Given the description of an element on the screen output the (x, y) to click on. 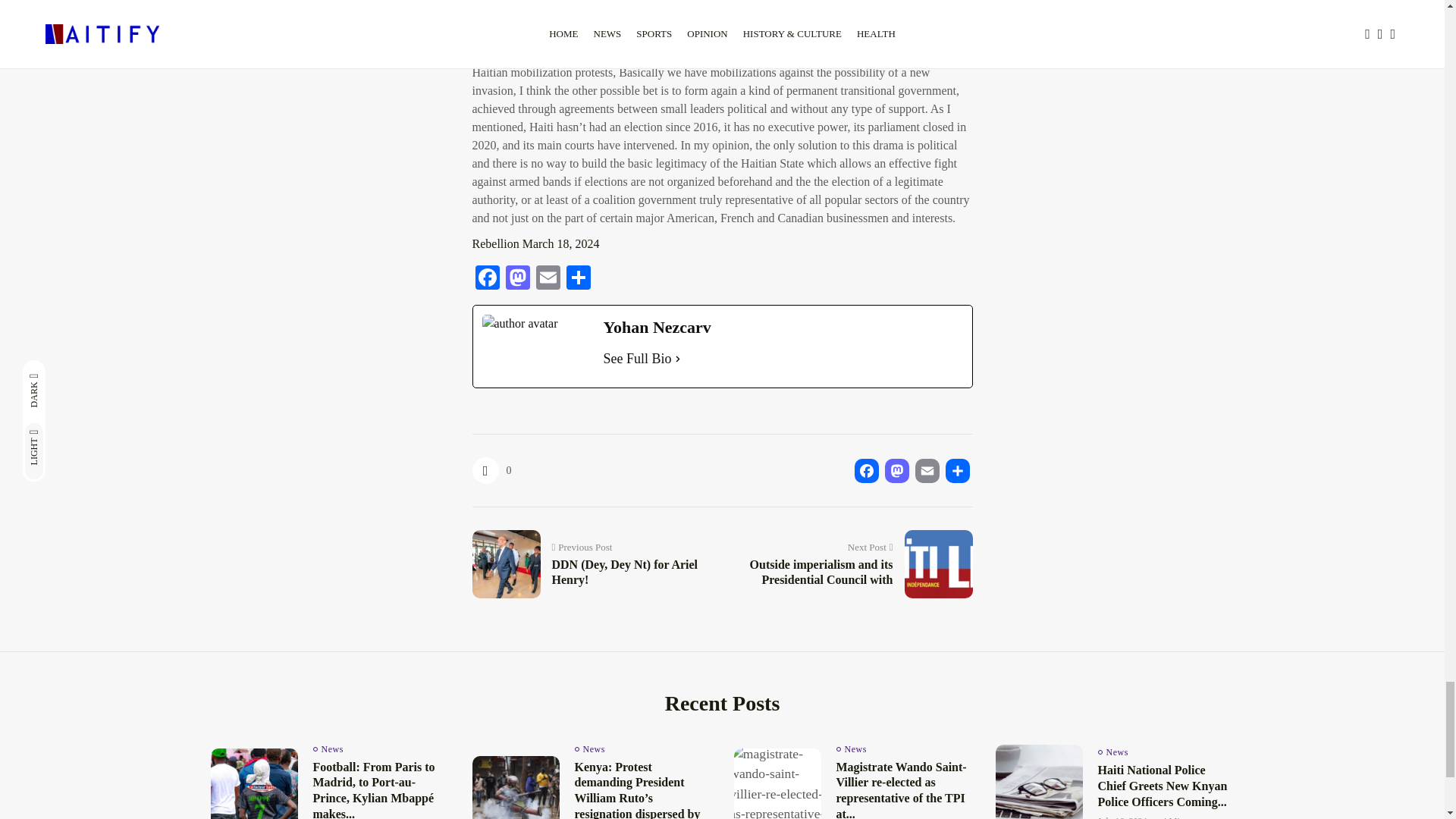
ddn-dey-dey-nt-for-ariel-henry - Haitify (502, 561)
Facebook (865, 470)
Facebook (486, 279)
Mastodon (517, 279)
Mastodon (895, 470)
Email (926, 470)
Email (547, 279)
